Given the description of an element on the screen output the (x, y) to click on. 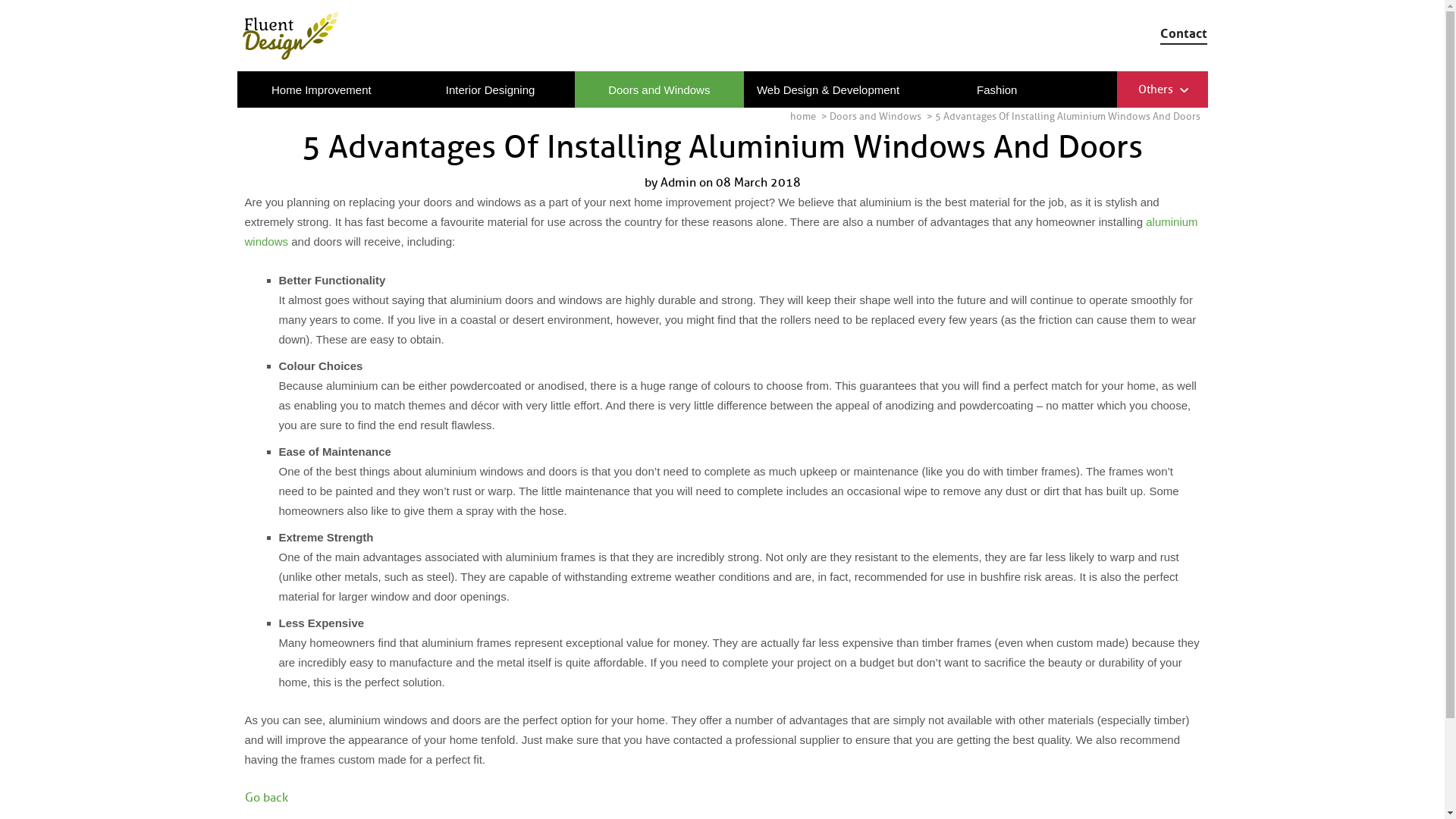
Fashion Element type: text (996, 89)
Home Improvement Element type: text (320, 89)
Web Design & Development Element type: text (828, 89)
Interior Designing Element type: text (489, 89)
Others Element type: text (1151, 85)
Go back Element type: text (265, 797)
home Element type: text (802, 115)
aluminium windows Element type: text (720, 231)
Contact Element type: text (1183, 32)
Doors and Windows Element type: text (875, 115)
Doors and Windows Element type: text (658, 89)
